Given the description of an element on the screen output the (x, y) to click on. 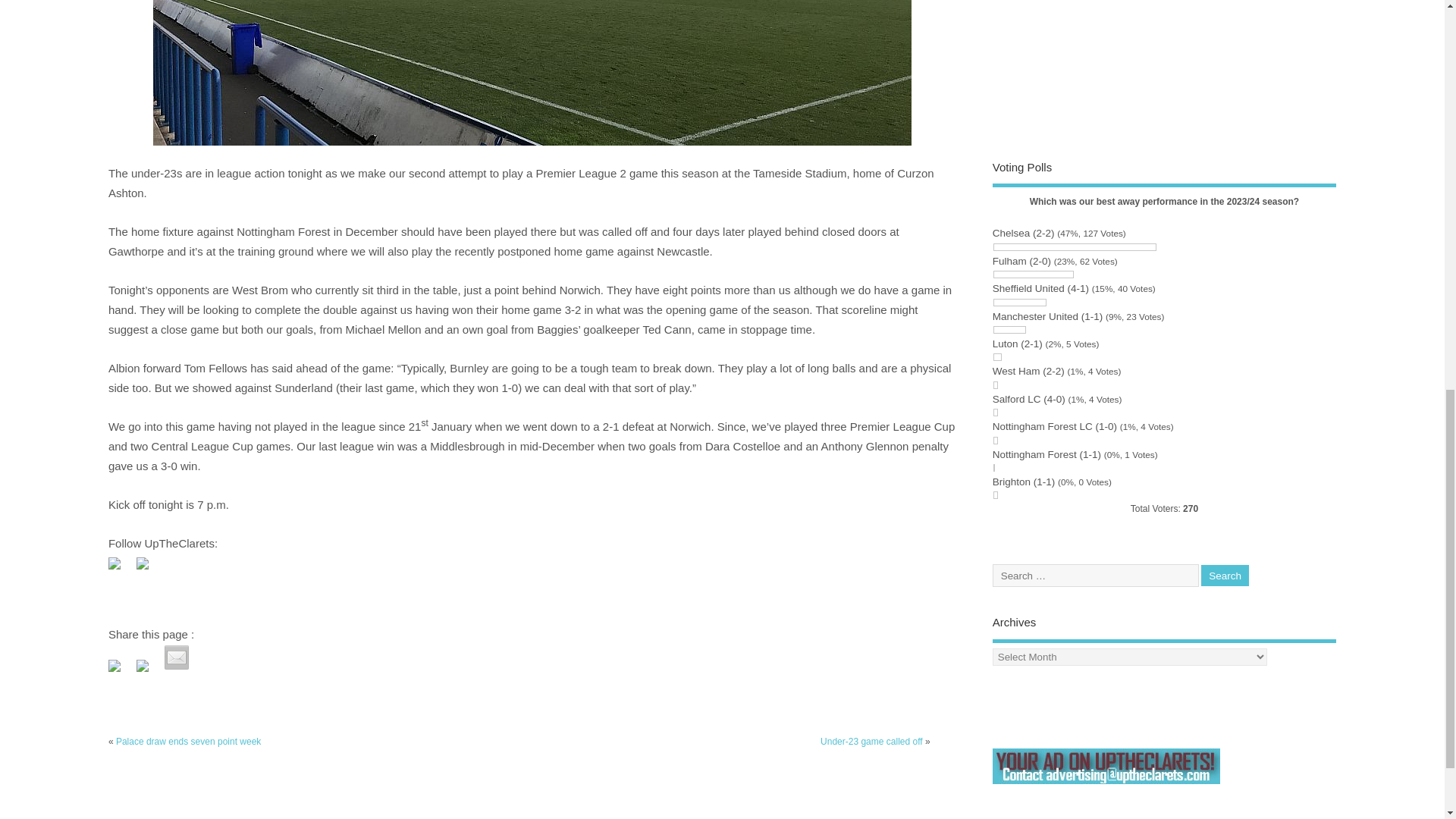
Search (1225, 576)
Search (1225, 576)
